Given the description of an element on the screen output the (x, y) to click on. 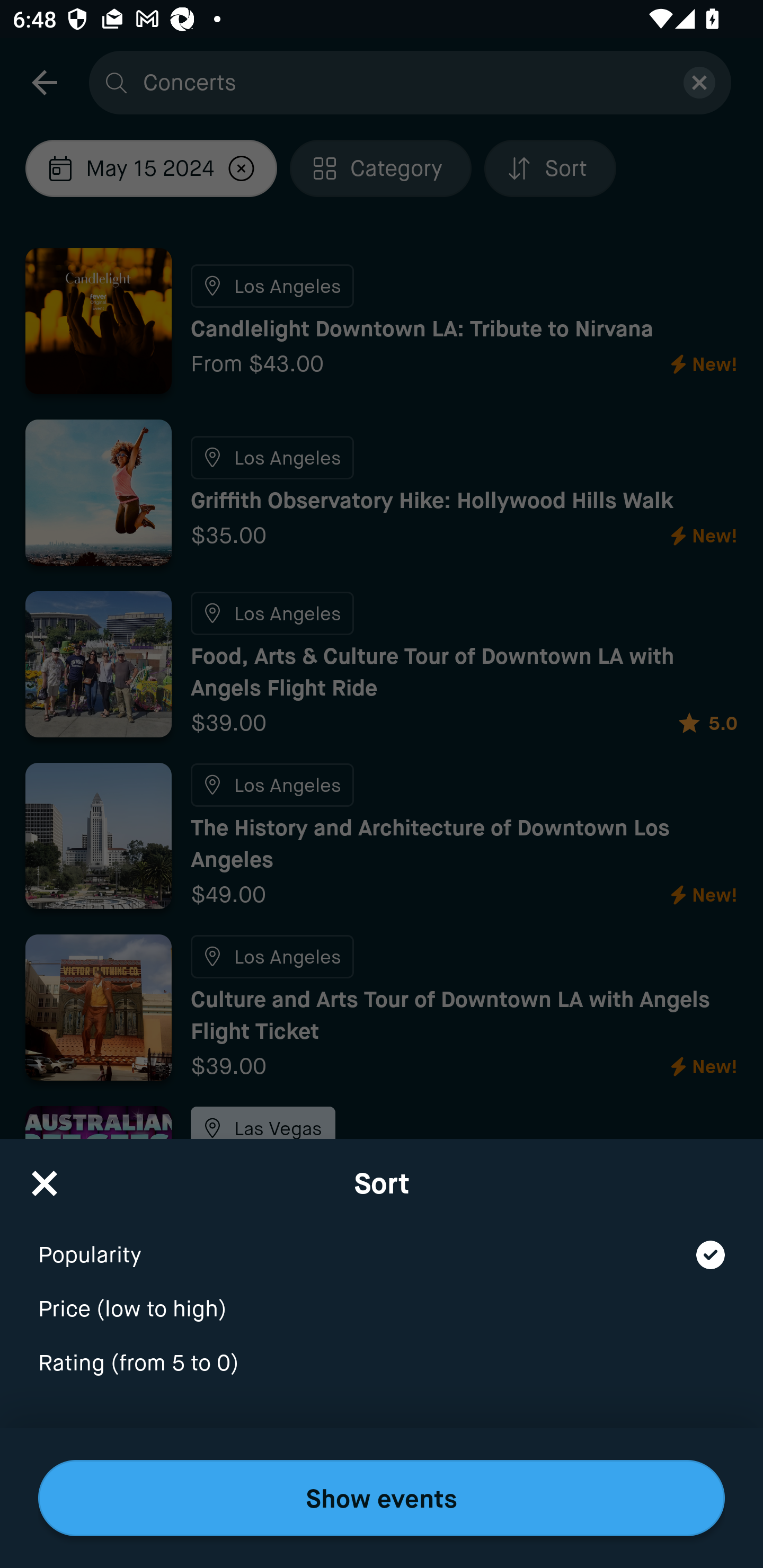
CloseButton (44, 1177)
Popularity Selected Icon (381, 1243)
Price (low to high) (381, 1297)
Rating (from 5 to 0) (381, 1362)
Show events (381, 1497)
